Given the description of an element on the screen output the (x, y) to click on. 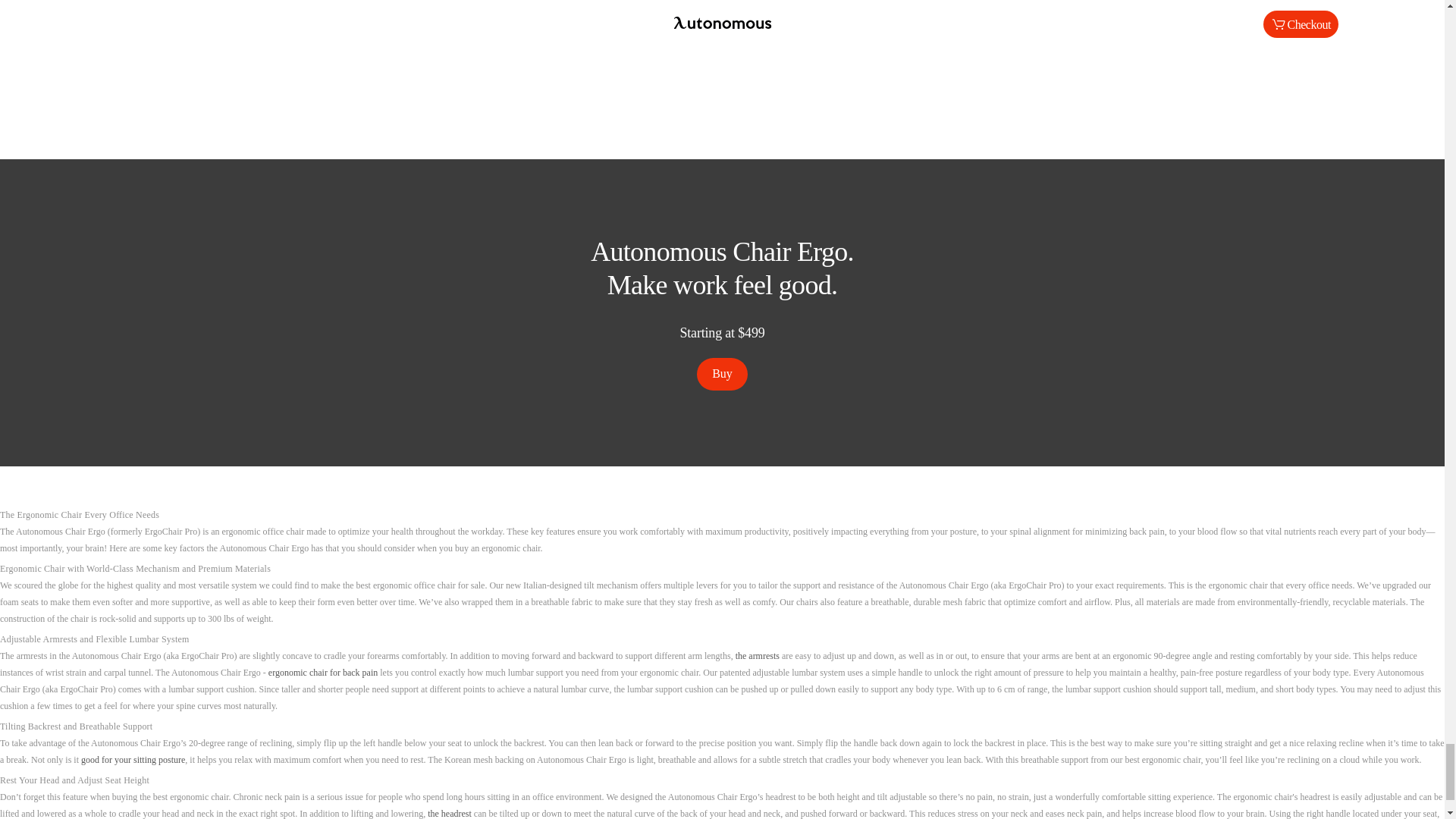
good for your sitting posture (132, 759)
the armrests (756, 655)
ergonomic chair for back pain (322, 672)
the headrest (449, 813)
Buy (722, 373)
